Given the description of an element on the screen output the (x, y) to click on. 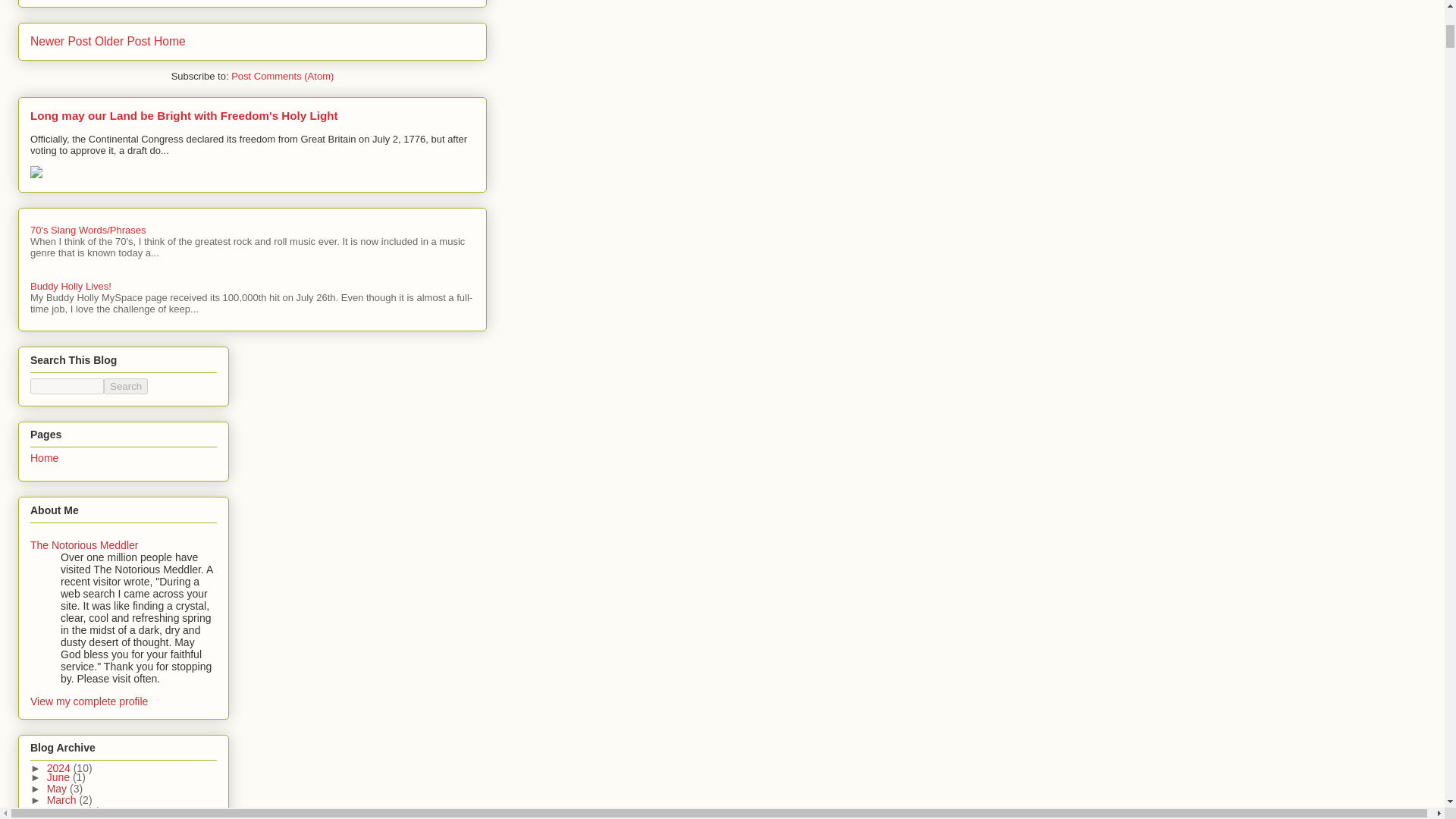
Search (125, 385)
search (66, 385)
Home (170, 41)
Long may our Land be Bright with Freedom's Holy Light (183, 115)
Older Post (122, 41)
Older Post (122, 41)
Newer Post (60, 41)
search (125, 385)
Newer Post (60, 41)
Search (125, 385)
